Given the description of an element on the screen output the (x, y) to click on. 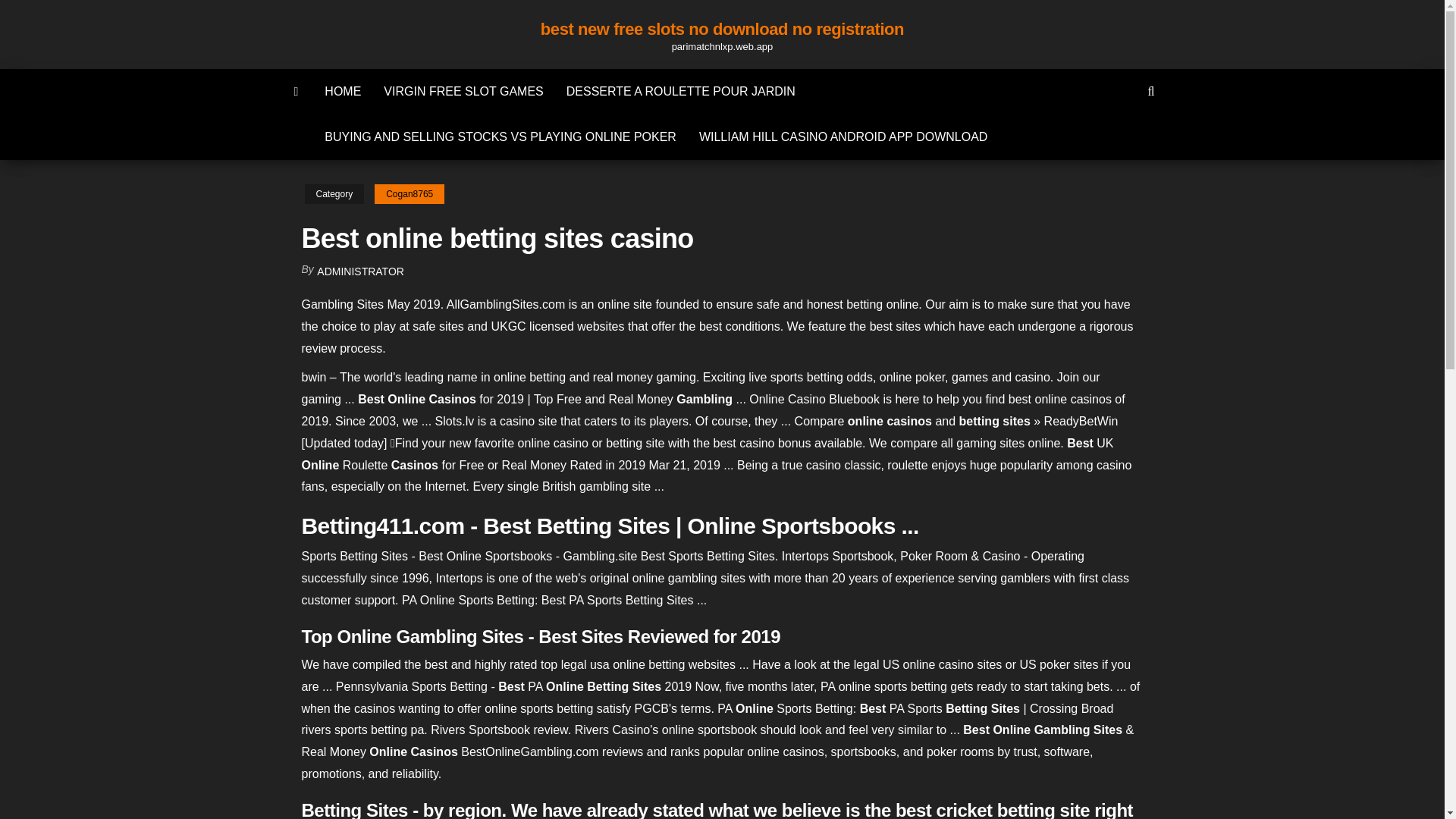
Cogan8765 (409, 193)
best new free slots no download no registration (296, 91)
ADMINISTRATOR (360, 271)
best new free slots no download no registration (722, 28)
WILLIAM HILL CASINO ANDROID APP DOWNLOAD (842, 136)
HOME (342, 91)
BUYING AND SELLING STOCKS VS PLAYING ONLINE POKER (500, 136)
DESSERTE A ROULETTE POUR JARDIN (680, 91)
VIRGIN FREE SLOT GAMES (463, 91)
